Given the description of an element on the screen output the (x, y) to click on. 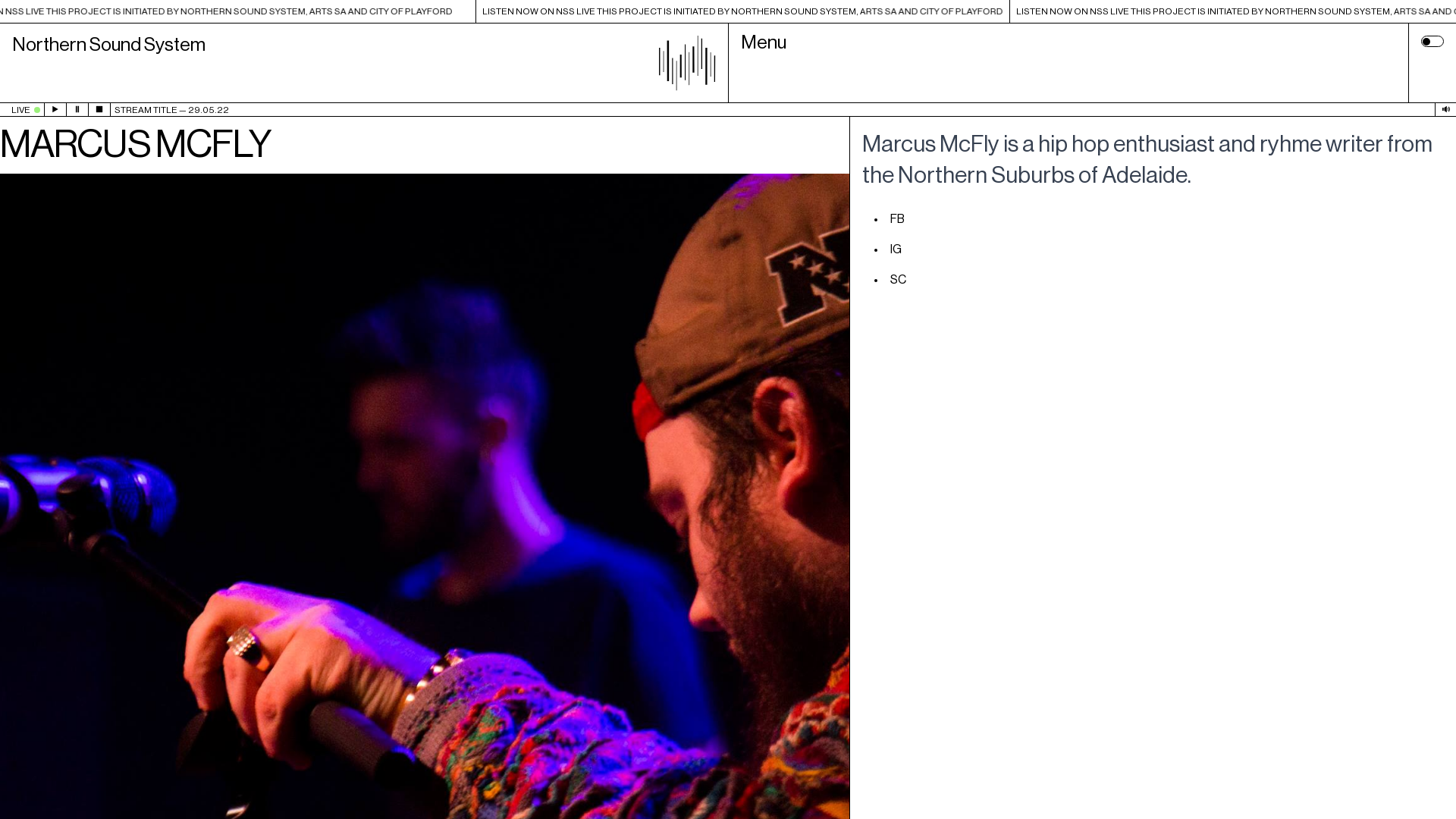
IG Element type: text (895, 248)
Northern Sound System Element type: text (364, 63)
FB Element type: text (897, 218)
SC Element type: text (898, 279)
Menu Element type: text (1068, 63)
